Given the description of an element on the screen output the (x, y) to click on. 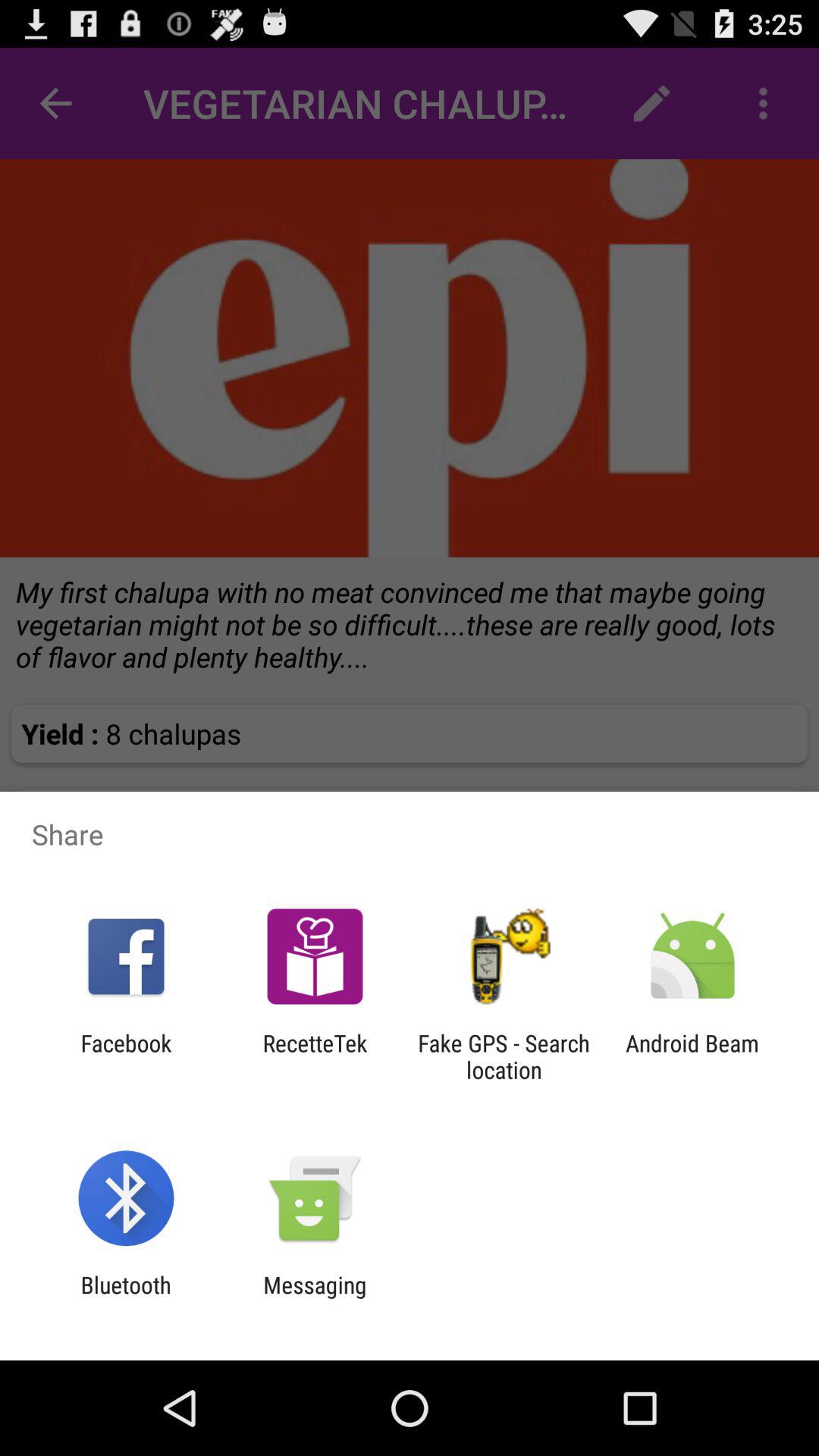
swipe until the facebook item (125, 1056)
